Given the description of an element on the screen output the (x, y) to click on. 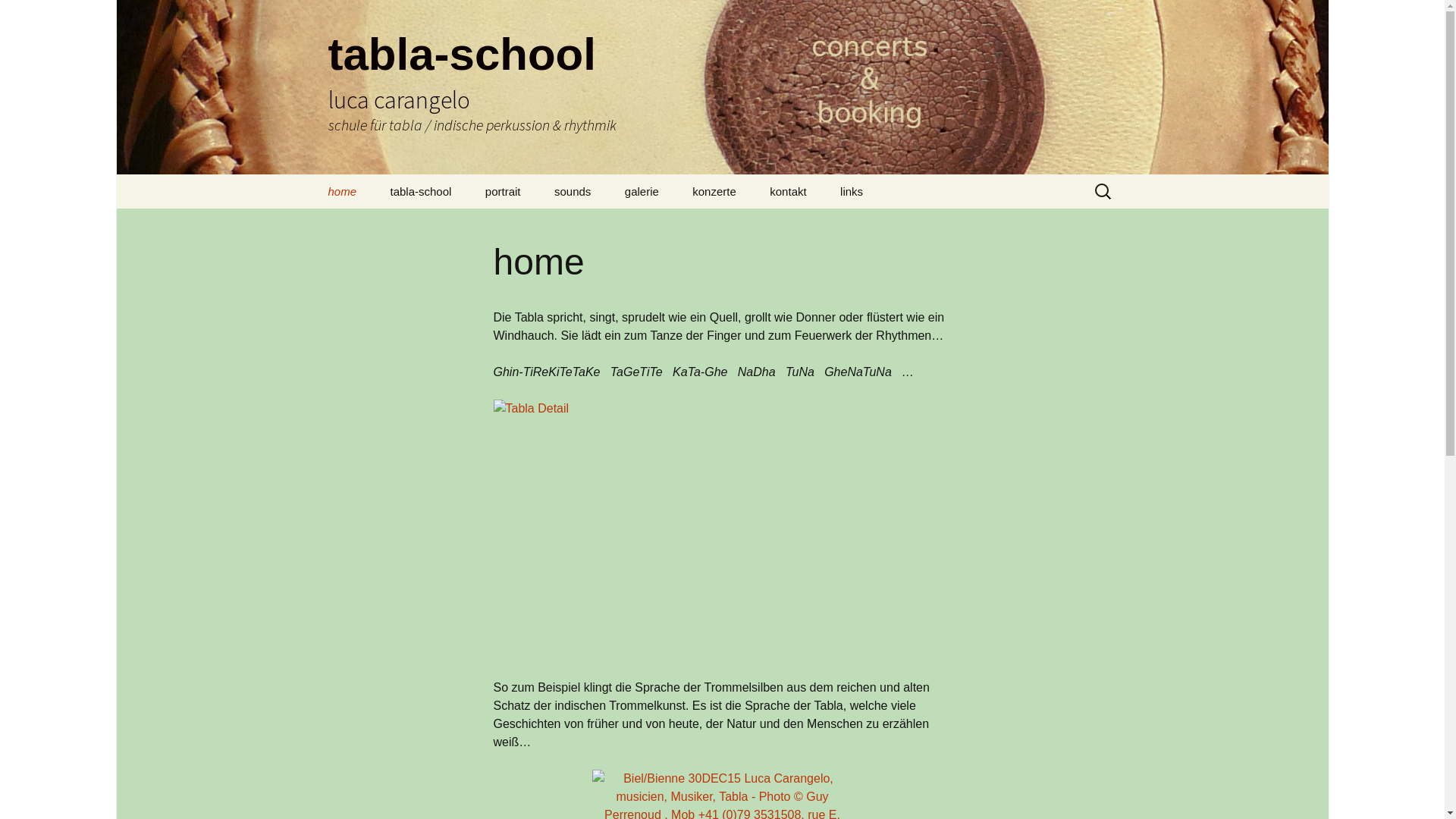
links Element type: text (851, 191)
kontakt Element type: text (787, 191)
sounds Element type: text (572, 191)
galerie Element type: text (641, 191)
Suche Element type: text (18, 15)
portrait Element type: text (503, 191)
Suche Element type: text (33, 15)
tabla-school Element type: text (420, 191)
Zum Inhalt springen Element type: text (312, 173)
unterricht Element type: text (450, 225)
home Element type: text (341, 191)
konzerte Element type: text (714, 191)
